Given the description of an element on the screen output the (x, y) to click on. 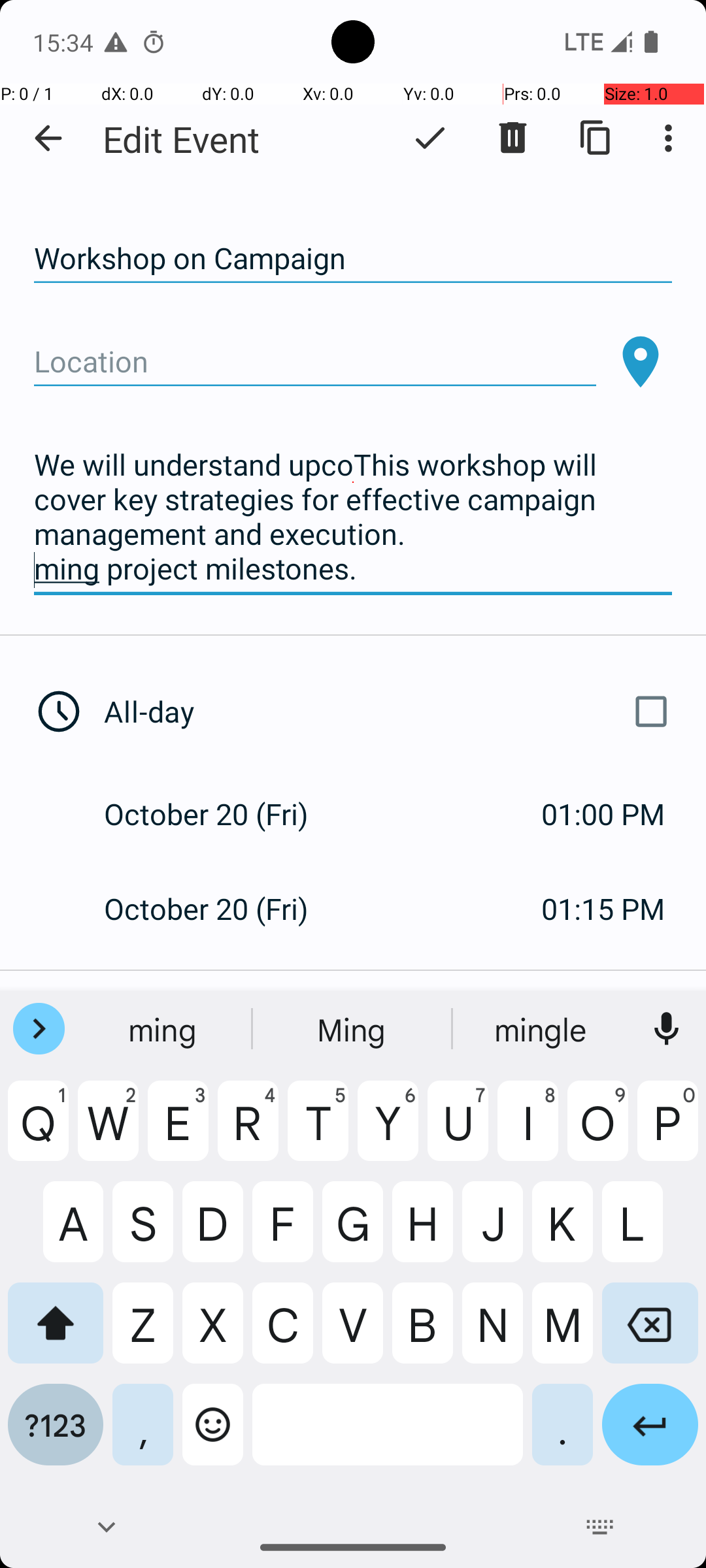
Workshop on Campaign Element type: android.widget.EditText (352, 258)
We will understand upcoThis workshop will cover key strategies for effective campaign management and execution.
ming project milestones. Element type: android.widget.EditText (352, 516)
October 20 (Fri) Element type: android.widget.TextView (219, 813)
01:00 PM Element type: android.widget.TextView (602, 813)
01:15 PM Element type: android.widget.TextView (602, 908)
ming Element type: android.widget.FrameLayout (163, 1028)
Ming Element type: android.widget.FrameLayout (352, 1028)
mingle Element type: android.widget.FrameLayout (541, 1028)
